Given the description of an element on the screen output the (x, y) to click on. 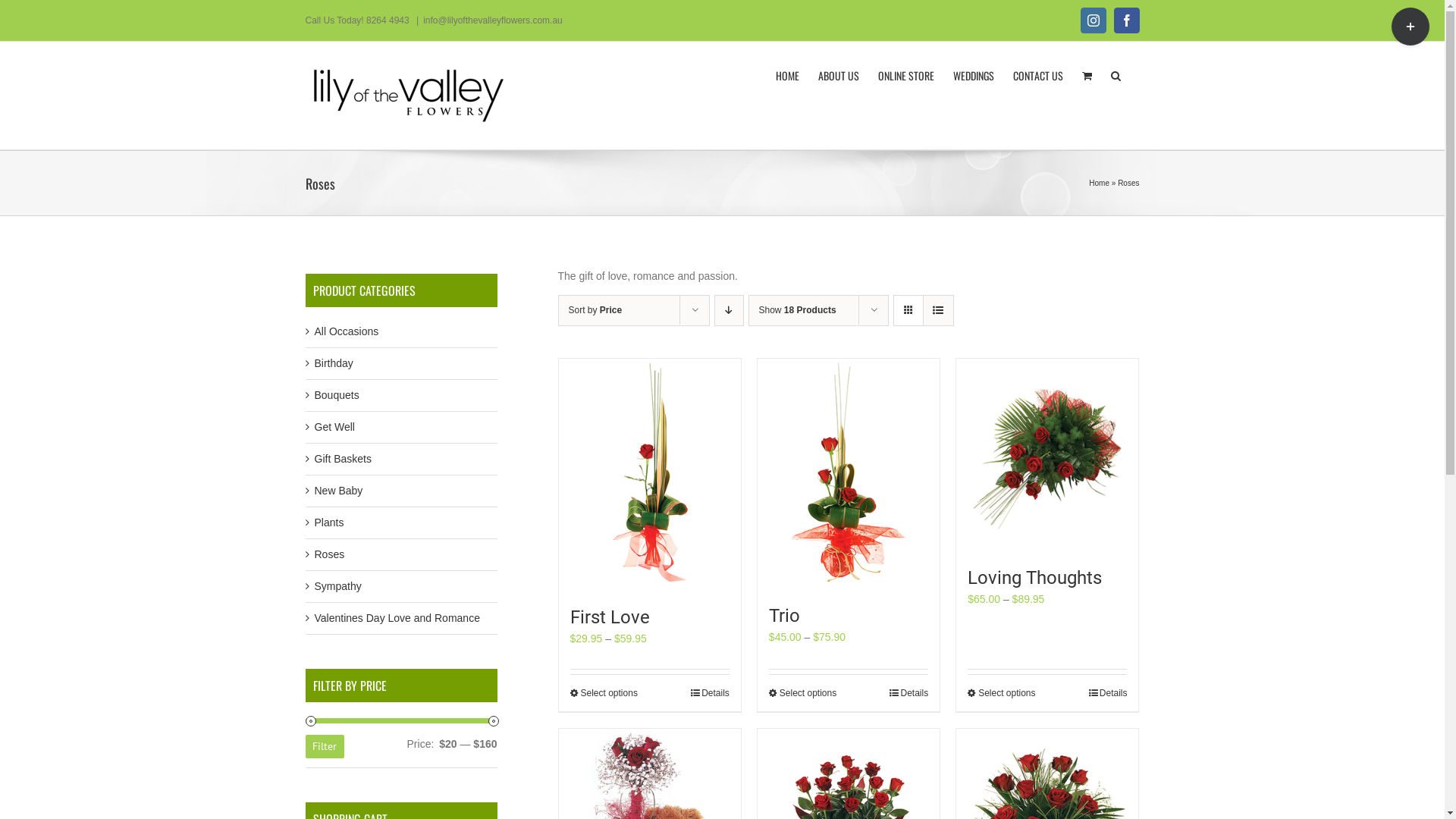
Select options Element type: text (603, 692)
Trio Element type: text (784, 615)
Facebook Element type: text (1126, 20)
Loving Thoughts Element type: text (1034, 577)
Search Element type: hover (1115, 73)
Details Element type: text (908, 692)
Details Element type: text (709, 692)
Filter Element type: text (324, 746)
Plants Element type: text (328, 522)
Birthday Element type: text (332, 363)
ABOUT US Element type: text (837, 73)
Gift Baskets Element type: text (341, 458)
Home Element type: text (1098, 182)
Instagram Element type: text (1093, 20)
Sort by Price Element type: text (595, 309)
Sympathy Element type: text (336, 586)
Toggle Sliding Bar Area Element type: text (1410, 26)
Details Element type: text (1107, 692)
CONTACT US Element type: text (1038, 73)
Select options Element type: text (802, 692)
Select options Element type: text (1001, 692)
First Love Element type: text (609, 616)
ONLINE STORE Element type: text (906, 73)
info@lilyofthevalleyflowers.com.au Element type: text (492, 20)
HOME Element type: text (786, 73)
All Occasions Element type: text (345, 331)
WEDDINGS Element type: text (972, 73)
Bouquets Element type: text (335, 395)
Get Well Element type: text (333, 426)
New Baby Element type: text (337, 490)
Show 18 Products Element type: text (796, 309)
Valentines Day Love and Romance Element type: text (396, 617)
Roses Element type: text (328, 554)
